Given the description of an element on the screen output the (x, y) to click on. 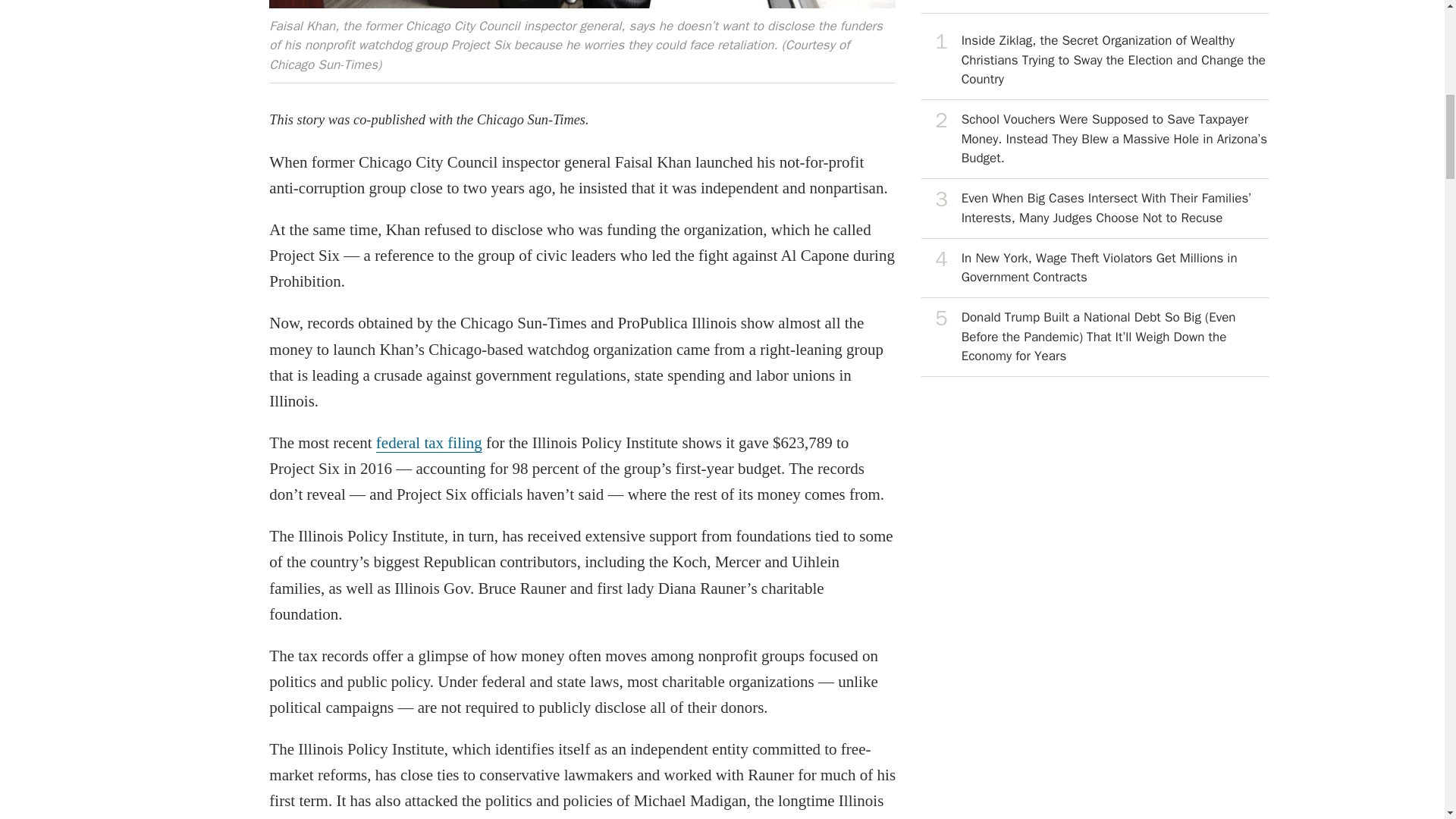
federal tax filing (428, 443)
View this (1094, 337)
View this (1094, 60)
View this (1094, 268)
View this (1094, 208)
View this (1094, 139)
